Given the description of an element on the screen output the (x, y) to click on. 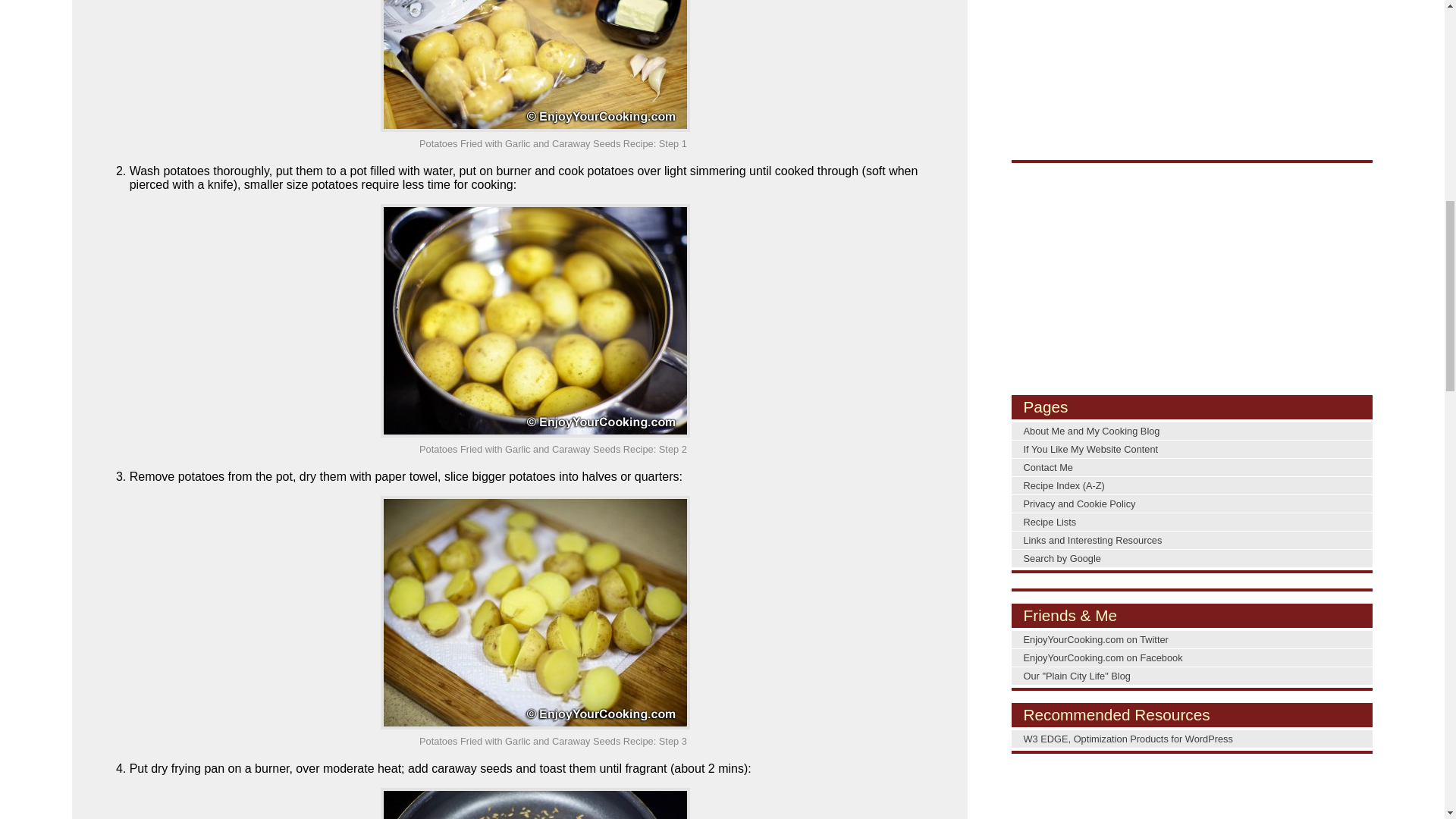
EnjoyYourCooking.com fan page on Facebook (1192, 657)
Advertisement (1192, 78)
Follow MeCooking on Twitter (1192, 639)
Advertisement (1192, 281)
